Given the description of an element on the screen output the (x, y) to click on. 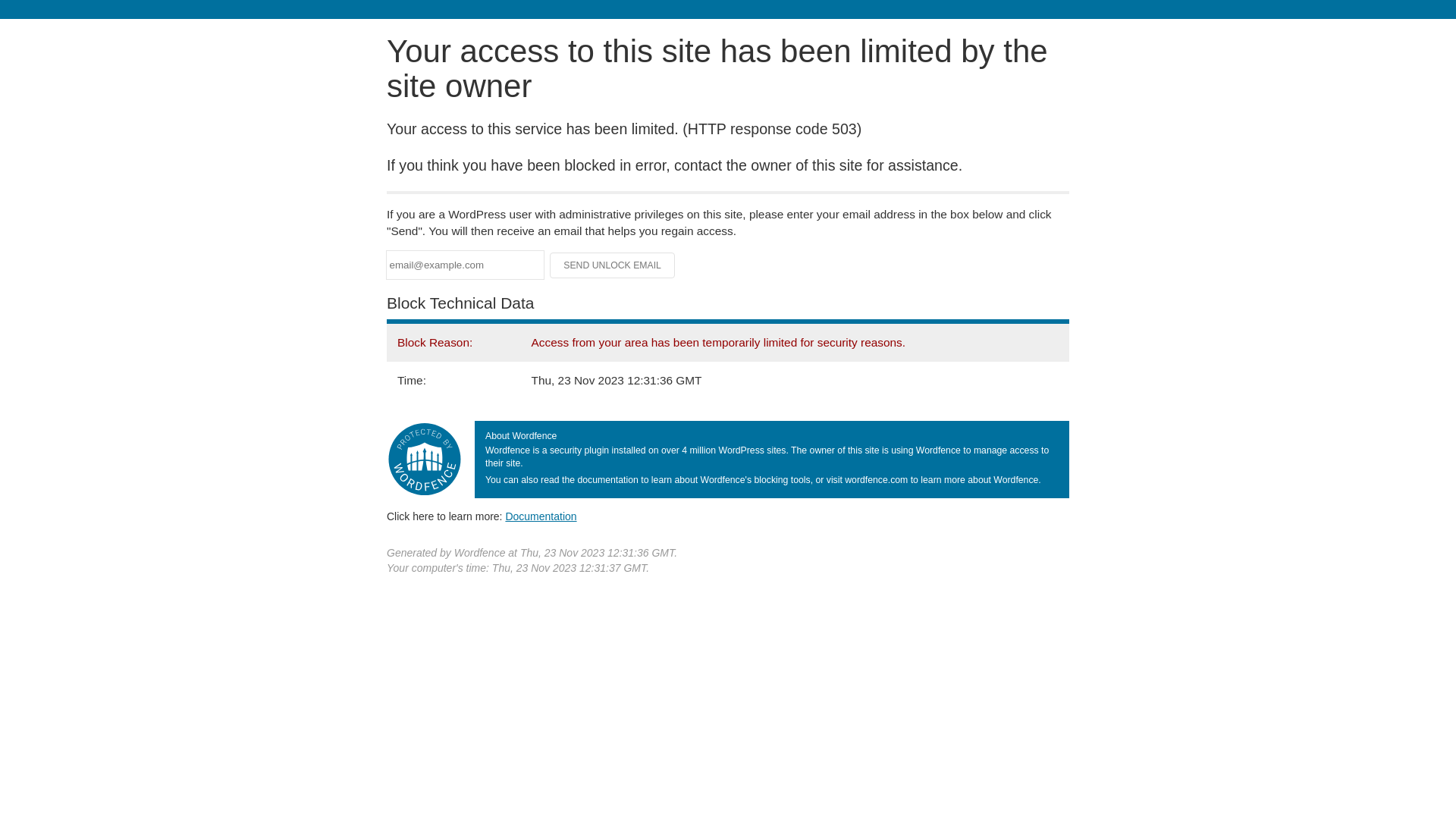
Send Unlock Email Element type: text (612, 265)
Documentation Element type: text (540, 516)
